Given the description of an element on the screen output the (x, y) to click on. 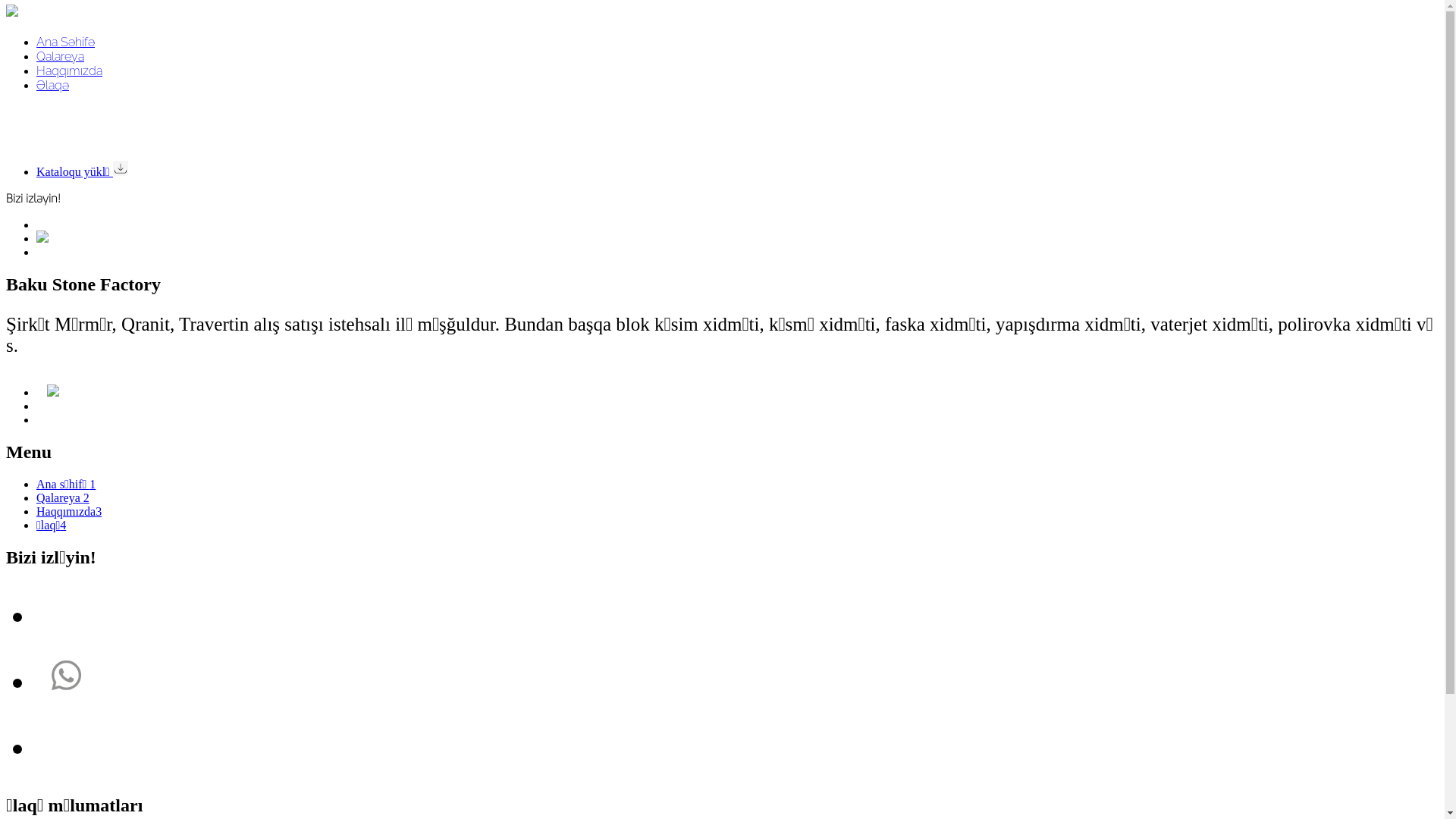
Qalareya 2 Element type: text (62, 497)
Qalareya Element type: text (60, 56)
